Given the description of an element on the screen output the (x, y) to click on. 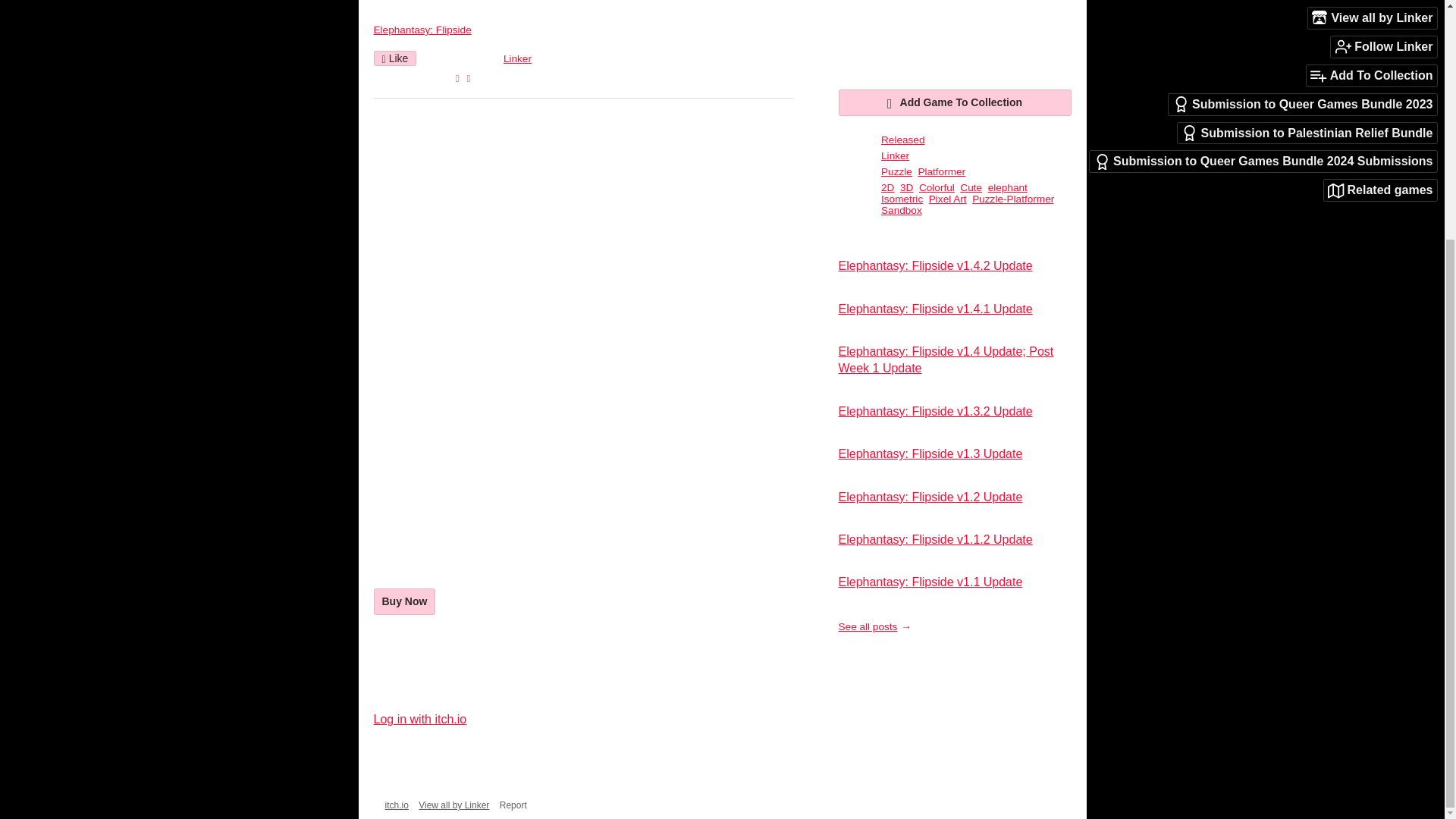
2D (886, 187)
Elephantasy: Flipside v1.3 Update (930, 453)
Like (394, 58)
Linker (517, 58)
Cute (970, 187)
Add Game To Collection (954, 102)
Isometric (901, 198)
Elephantasy: Flipside v1.2 Update (930, 496)
See all posts (874, 626)
Buy Now (403, 601)
Elephantasy: Flipside v1.4.2 Update (935, 265)
2023-03-02 23:54:45 (462, 58)
Elephantasy: Flipside v1.4 Update; Post Week 1 Update (946, 359)
Sandbox (900, 210)
Elephantasy: Flipside v1.1.2 Update (935, 539)
